Given the description of an element on the screen output the (x, y) to click on. 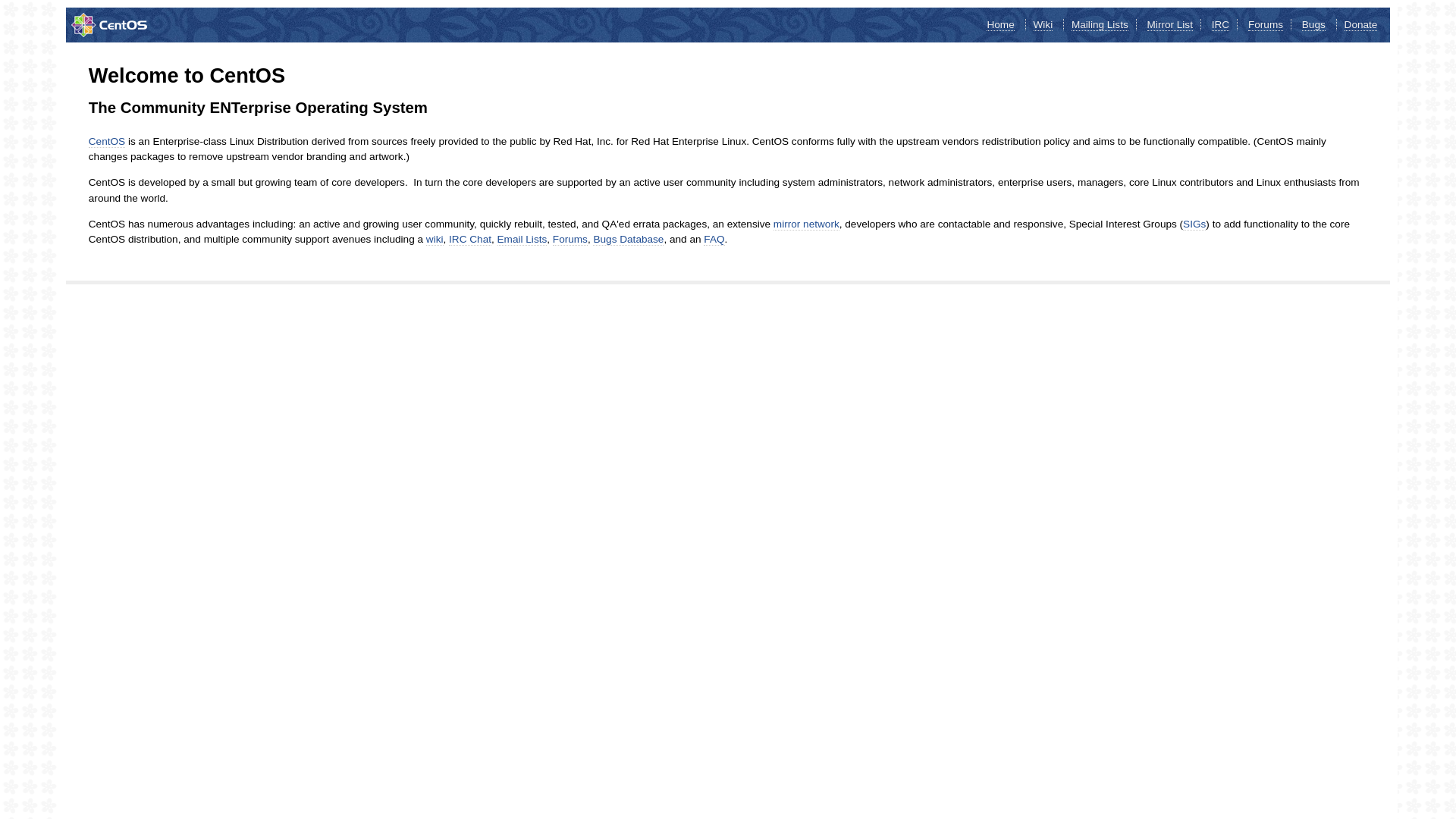
Bugs Database Element type: text (628, 239)
SIGs Element type: text (1194, 224)
Donate Element type: text (1360, 24)
CentOS Element type: text (106, 141)
Mirror List Element type: text (1169, 24)
IRC Chat Element type: text (469, 239)
Bugs Element type: text (1313, 24)
IRC Element type: text (1220, 24)
Forums Element type: text (569, 239)
Forums Element type: text (1265, 24)
Email Lists Element type: text (522, 239)
wiki Element type: text (434, 239)
Wiki Element type: text (1042, 24)
FAQ Element type: text (713, 239)
Mailing Lists Element type: text (1099, 24)
Home Element type: text (999, 24)
mirror network Element type: text (806, 224)
